Given the description of an element on the screen output the (x, y) to click on. 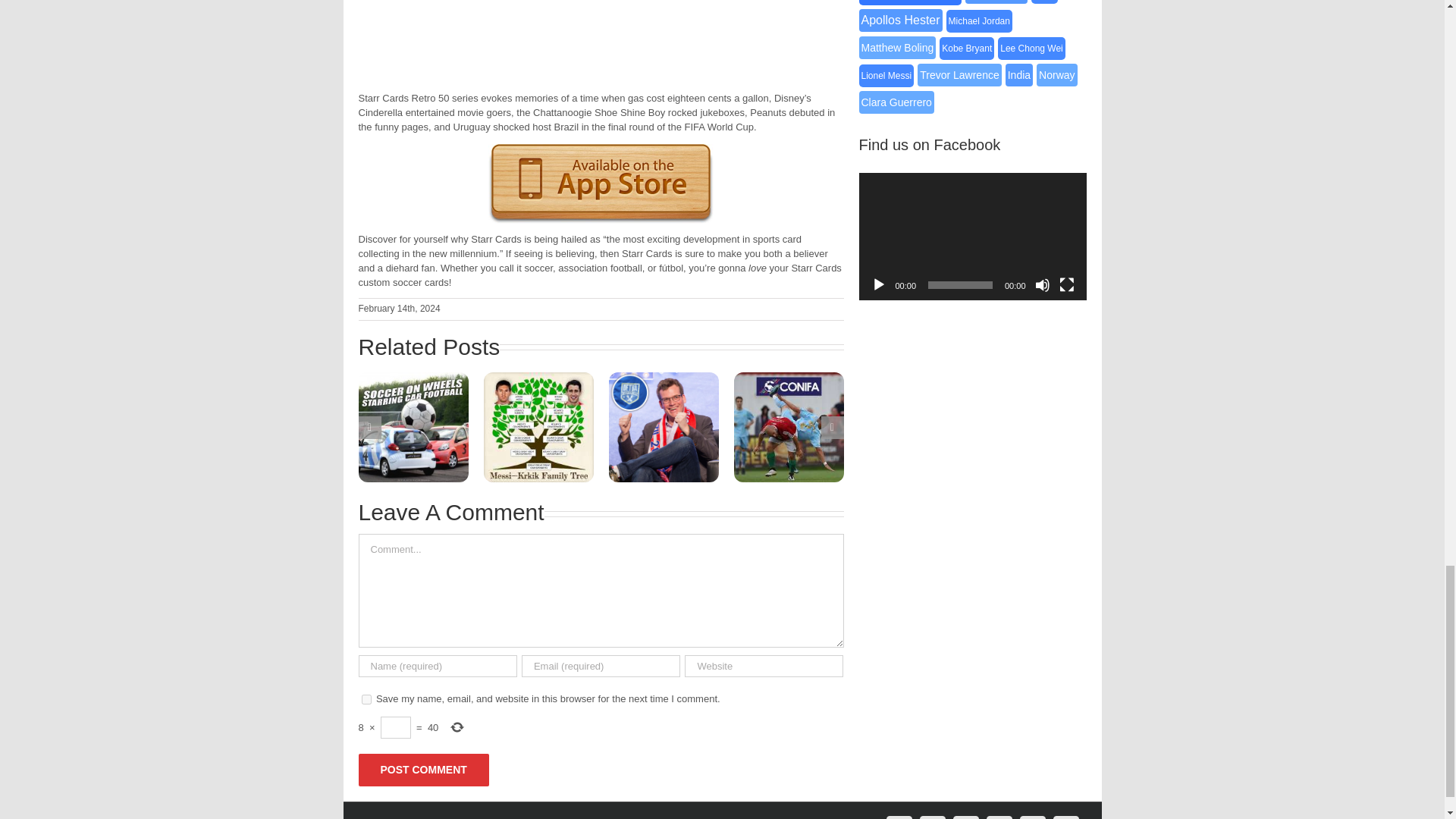
Post Comment (422, 769)
yes (366, 699)
